Given the description of an element on the screen output the (x, y) to click on. 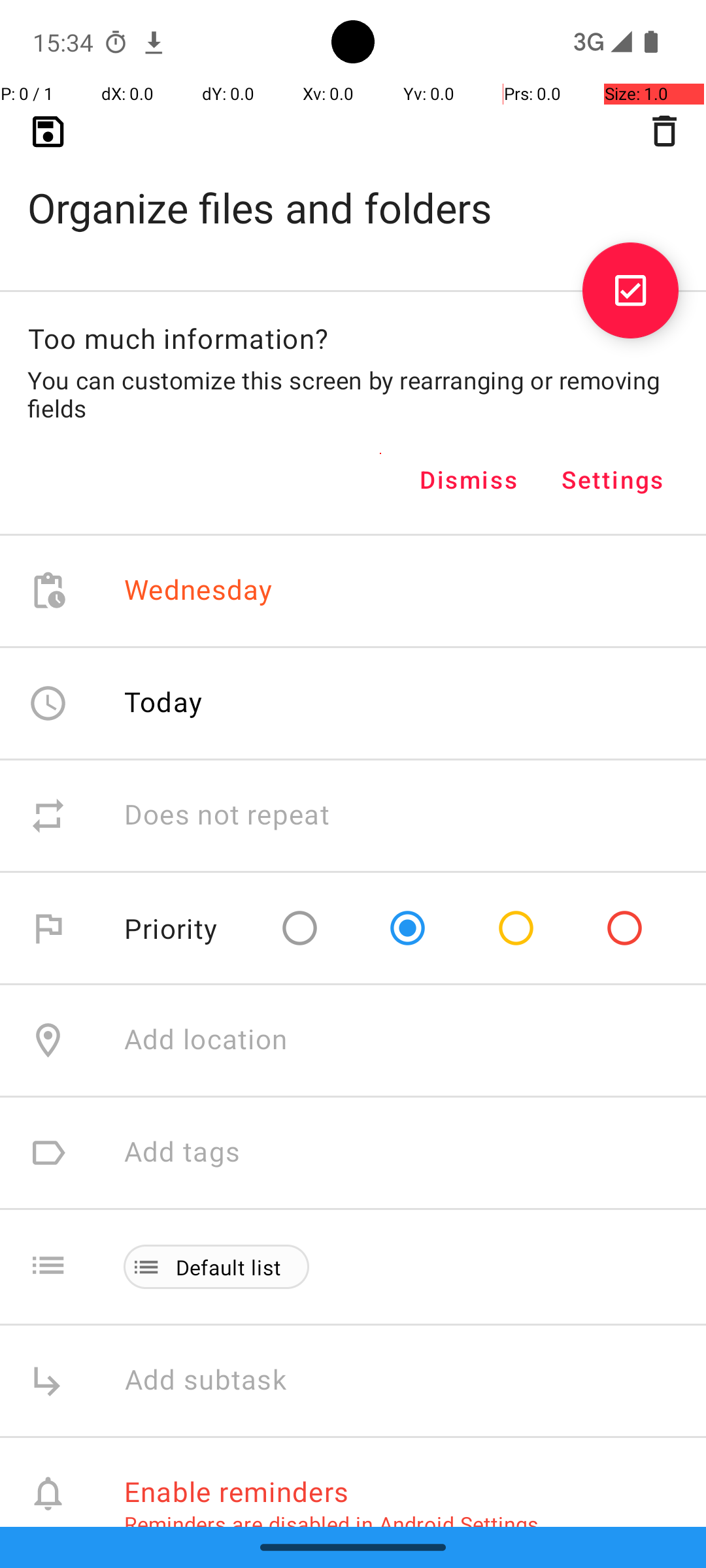
Organize files and folders Element type: android.widget.EditText (353, 186)
